Given the description of an element on the screen output the (x, y) to click on. 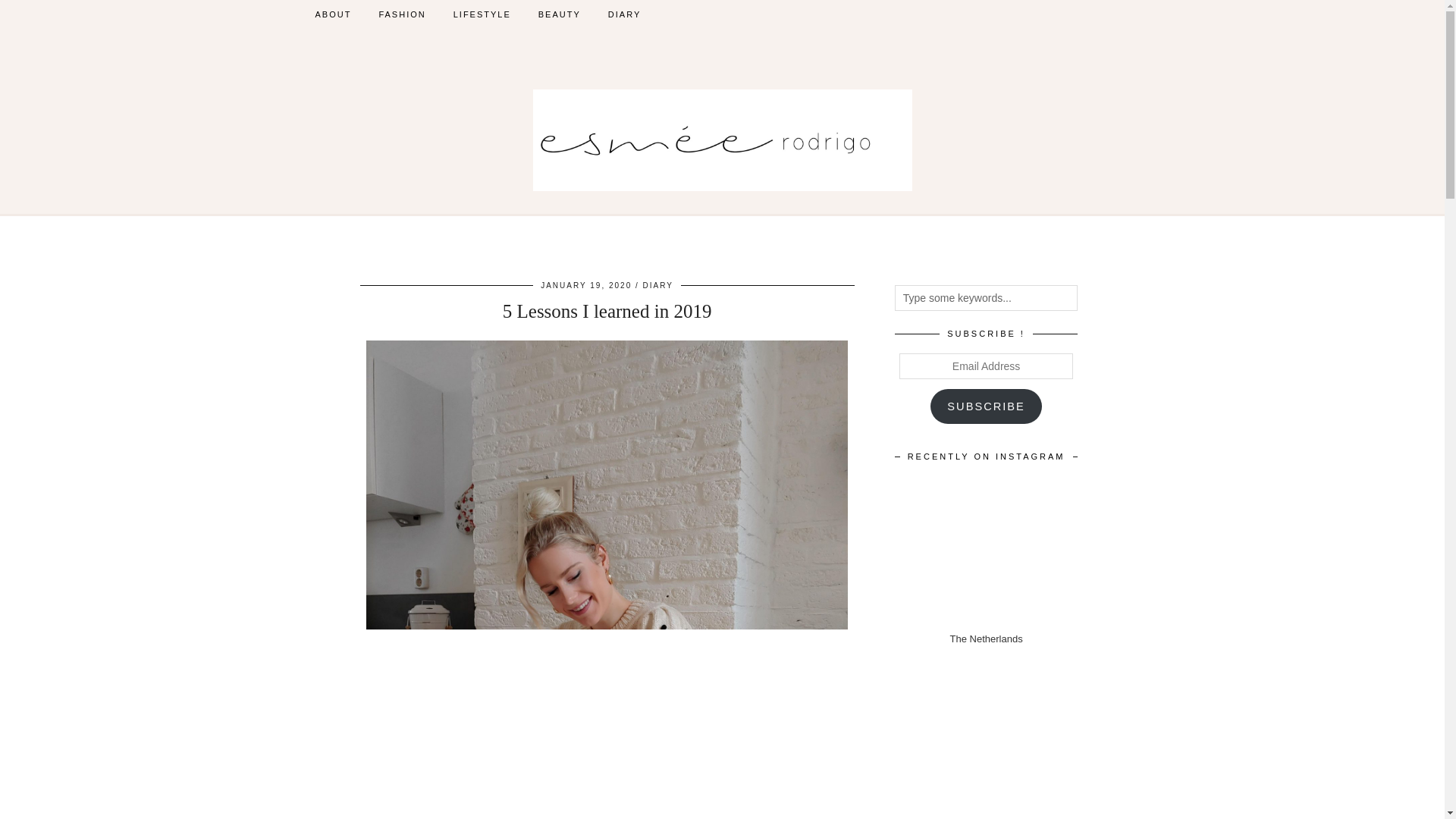
DIARY (657, 285)
SUBSCRIBE (986, 406)
BEAUTY (559, 14)
ABOUT (333, 14)
DIARY (623, 14)
FASHION (402, 14)
LIFESTYLE (481, 14)
